Given the description of an element on the screen output the (x, y) to click on. 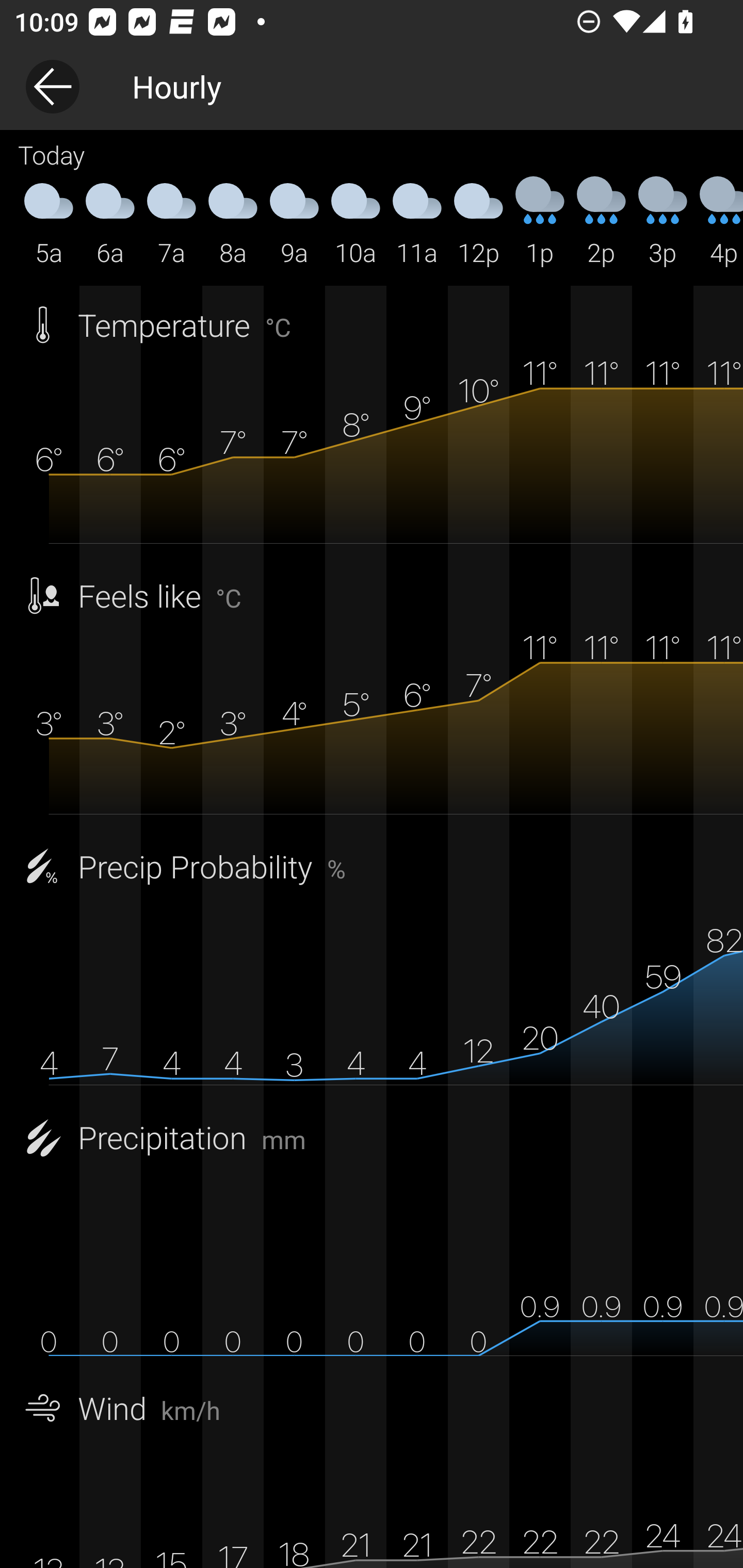
5a (48, 222)
6a (110, 222)
7a (171, 222)
8a (232, 222)
9a (294, 222)
10a (355, 222)
11a (417, 222)
12p (478, 222)
1p (539, 222)
2p (601, 222)
3p (662, 222)
4p (718, 222)
